Given the description of an element on the screen output the (x, y) to click on. 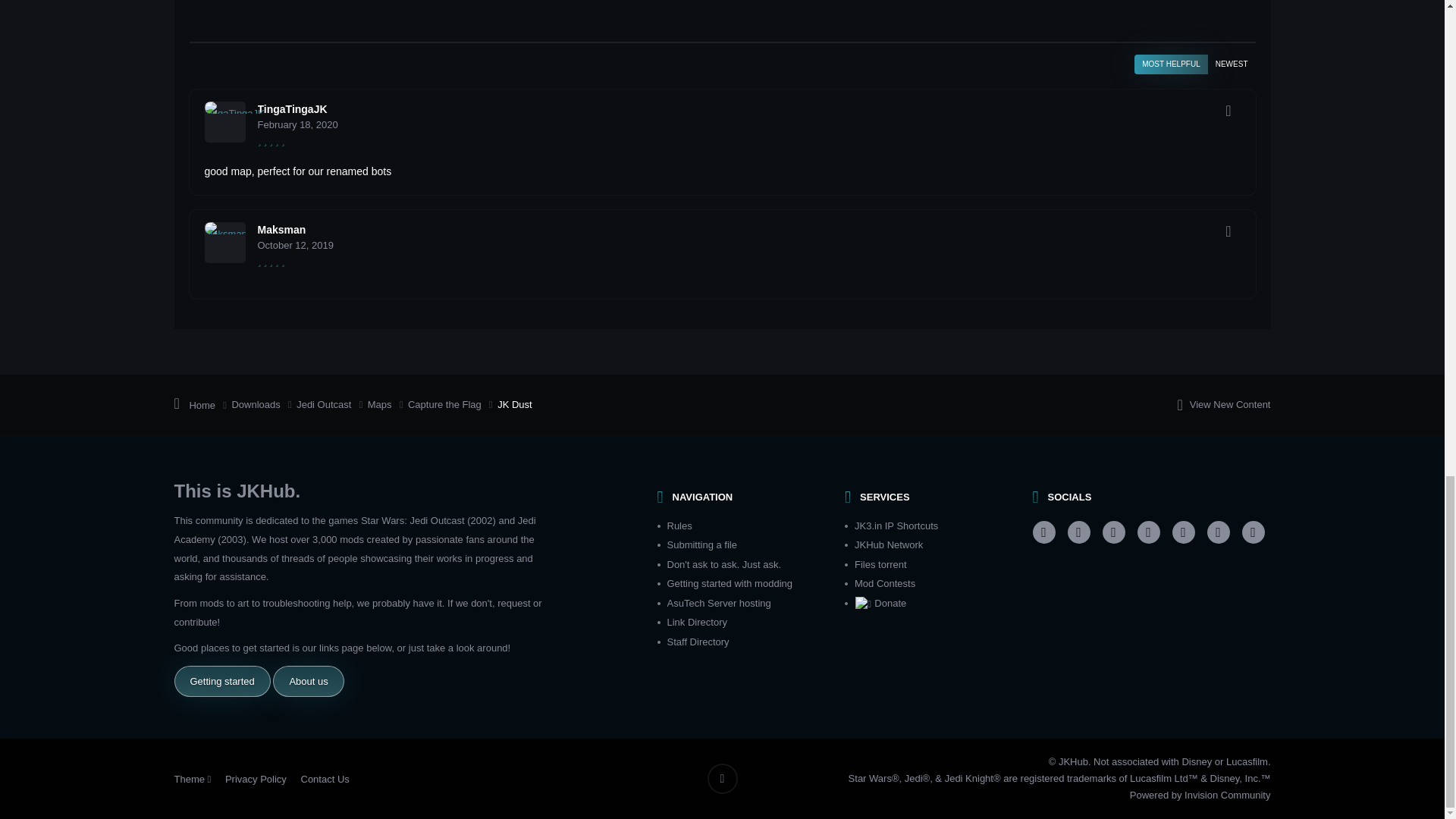
Go to TingaTingaJK's profile (292, 109)
Go to Maksman's profile (225, 241)
More options... (1227, 110)
Go to TingaTingaJK's profile (225, 121)
